Given the description of an element on the screen output the (x, y) to click on. 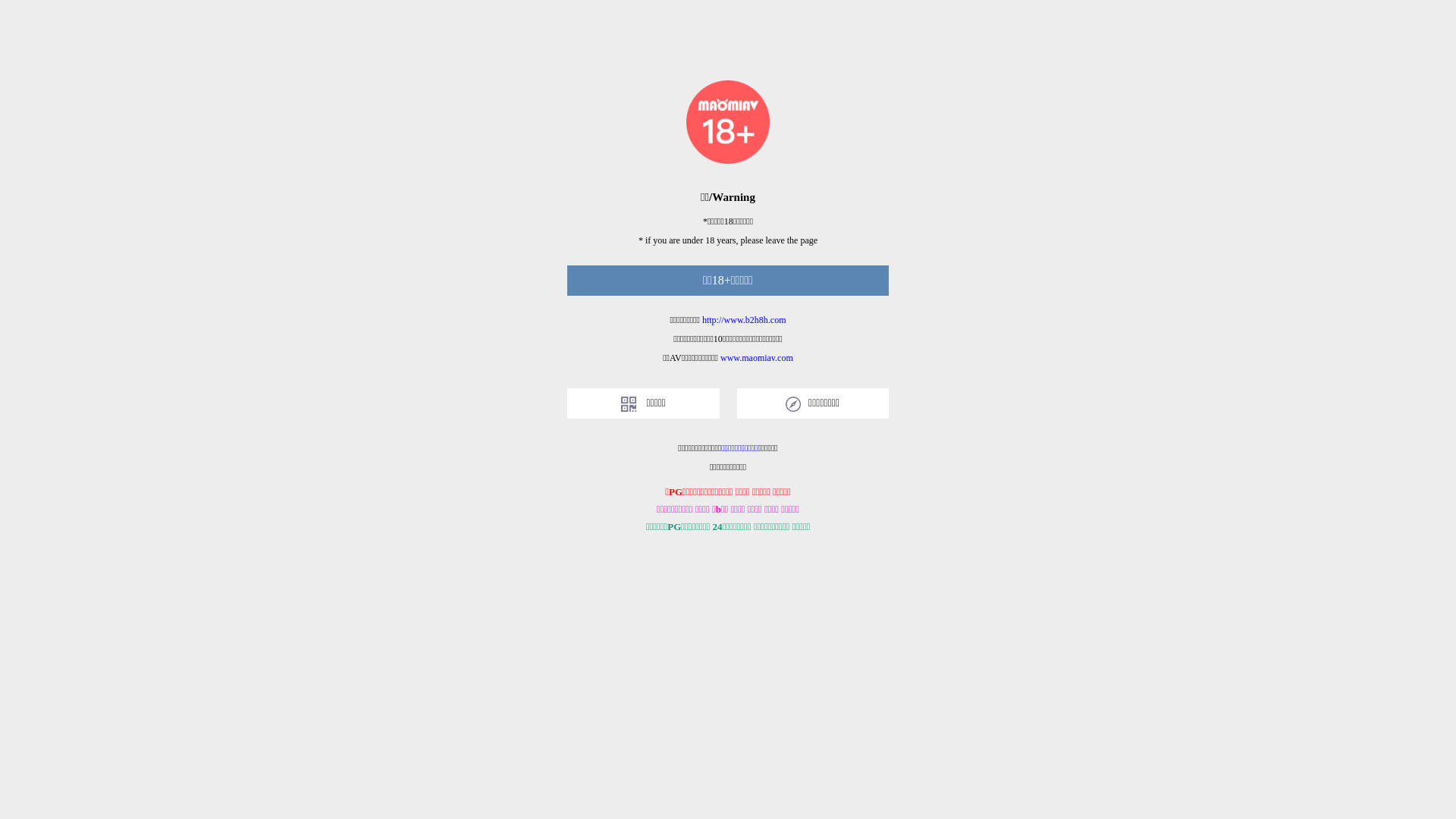
http://www.b2h8h.com Element type: text (744, 319)
www.maomiav.com Element type: text (756, 357)
